Given the description of an element on the screen output the (x, y) to click on. 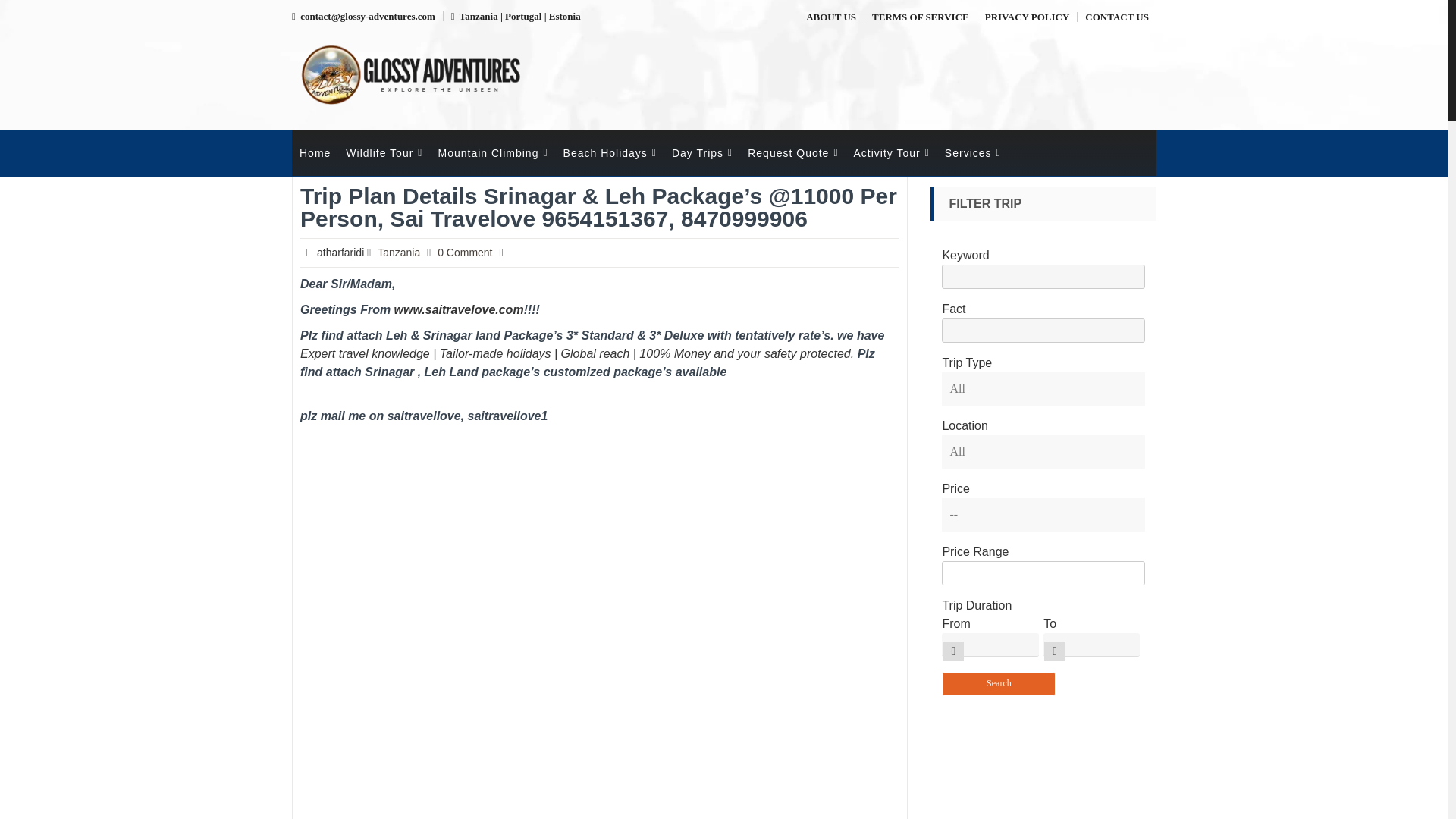
CONTACT US (1116, 16)
Beach Holidays (609, 153)
TERMS OF SERVICE (920, 16)
Home (314, 153)
Wildlife Tour (383, 153)
PRIVACY POLICY (1027, 16)
Search (998, 683)
Search (998, 683)
Glossy Adventures (402, 122)
ABOUT US (831, 16)
Mountain Climbing (491, 153)
